Given the description of an element on the screen output the (x, y) to click on. 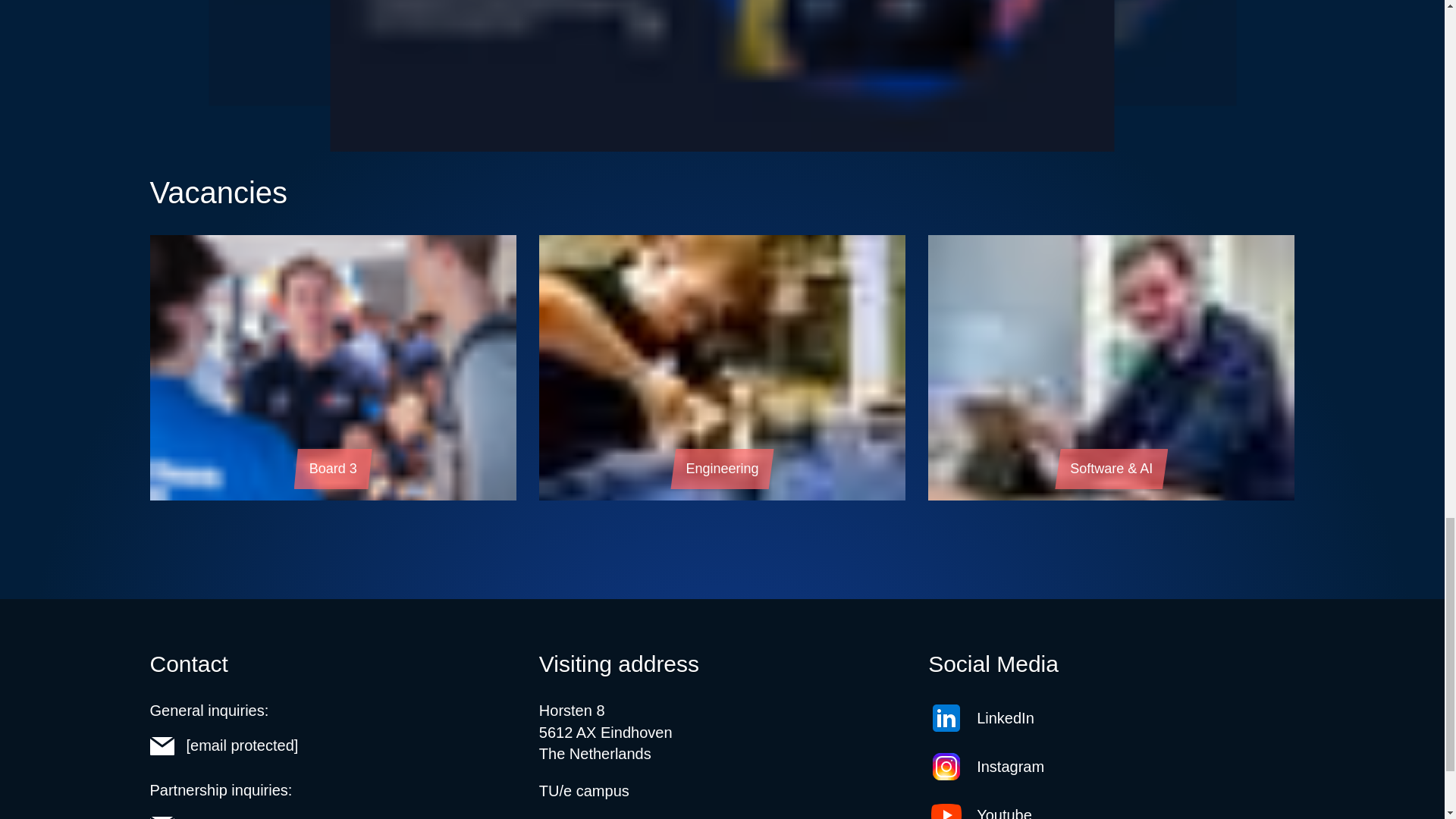
Youtube (1111, 807)
Instagram (1111, 766)
LinkedIn (1111, 718)
